Given the description of an element on the screen output the (x, y) to click on. 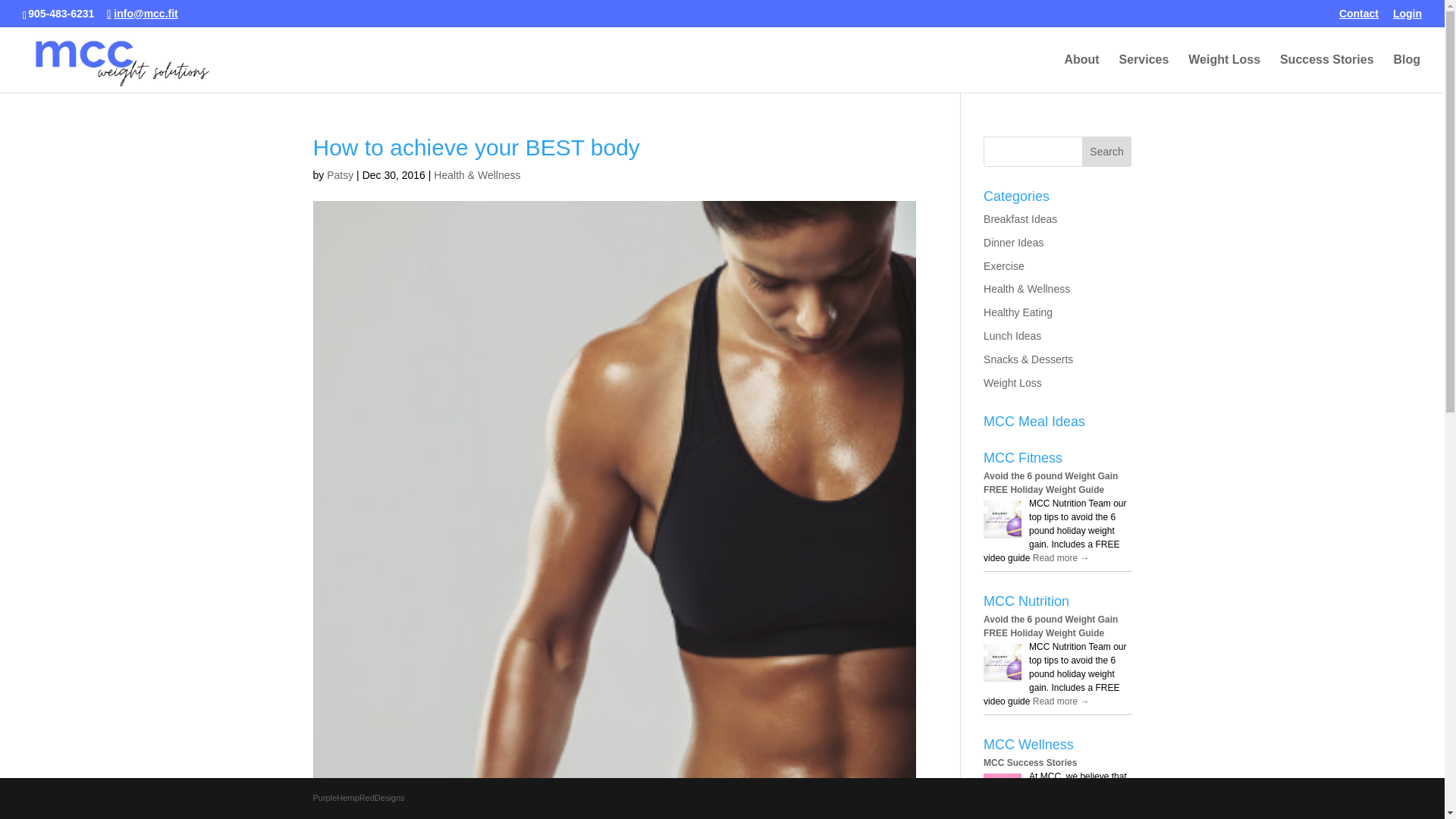
Exercise (1004, 265)
Search (1106, 151)
Weight Loss (1224, 73)
Permanent link to MCC Success Stories (1030, 762)
Posts by Patsy (339, 174)
Blog (1407, 73)
Breakfast Ideas (1020, 218)
Services (1143, 73)
Avoid the 6 pound Weight Gain FREE Holiday Weight Guide (1051, 626)
Login (1407, 16)
About (1081, 73)
Success Stories (1326, 73)
Healthy Eating (1018, 312)
